Given the description of an element on the screen output the (x, y) to click on. 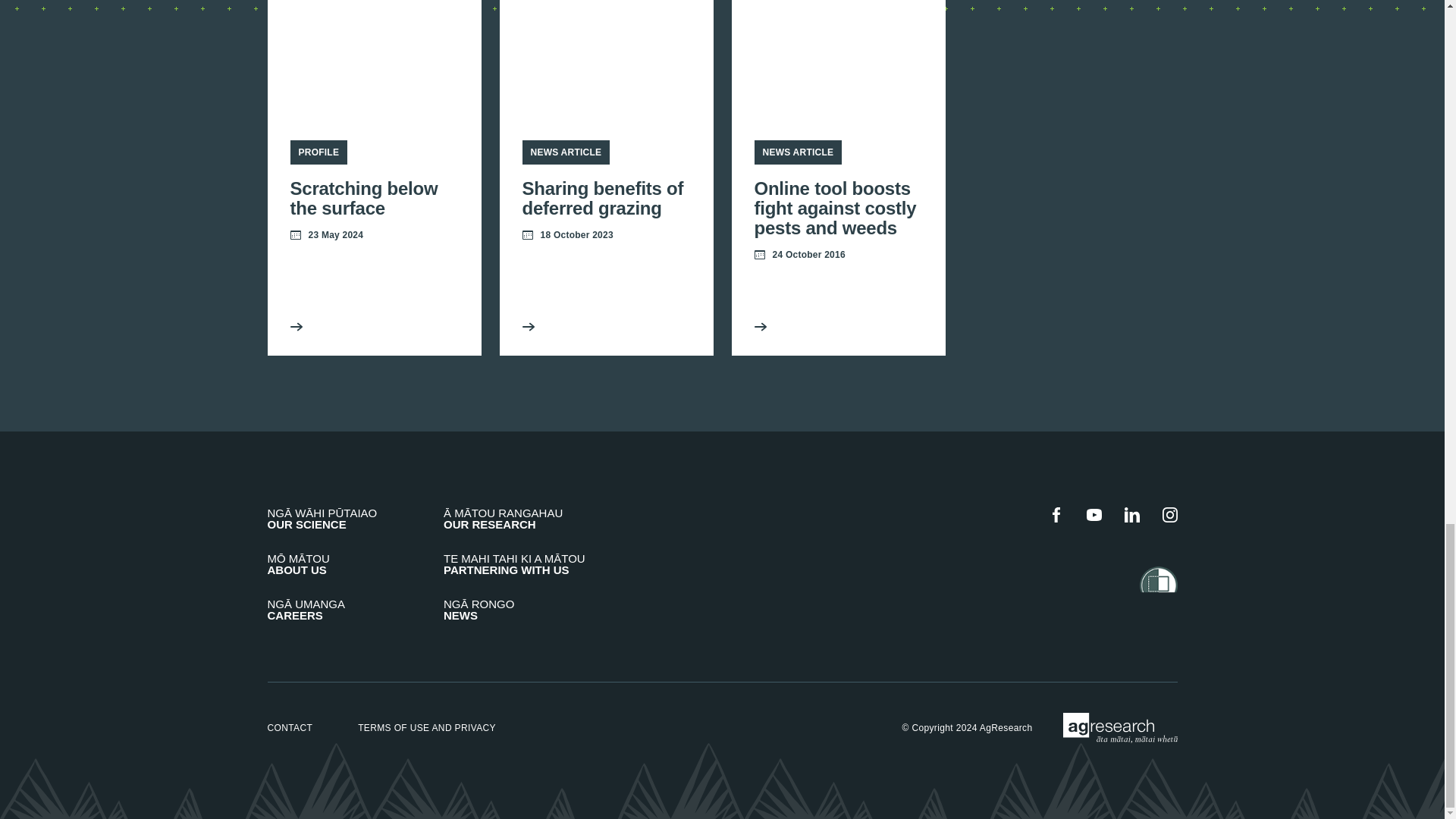
Return to home page (1119, 727)
AgResearch on LinkedIn (1131, 514)
Instagram (1168, 514)
LinkedIn (1131, 514)
AgResearch on Facebook (1055, 514)
TERMS OF USE AND PRIVACY (427, 727)
YouTube (1093, 514)
AgResearch on YouTube (1093, 514)
Facebook (1055, 514)
CONTACT (289, 727)
AgResearch on Instagram (373, 177)
